Given the description of an element on the screen output the (x, y) to click on. 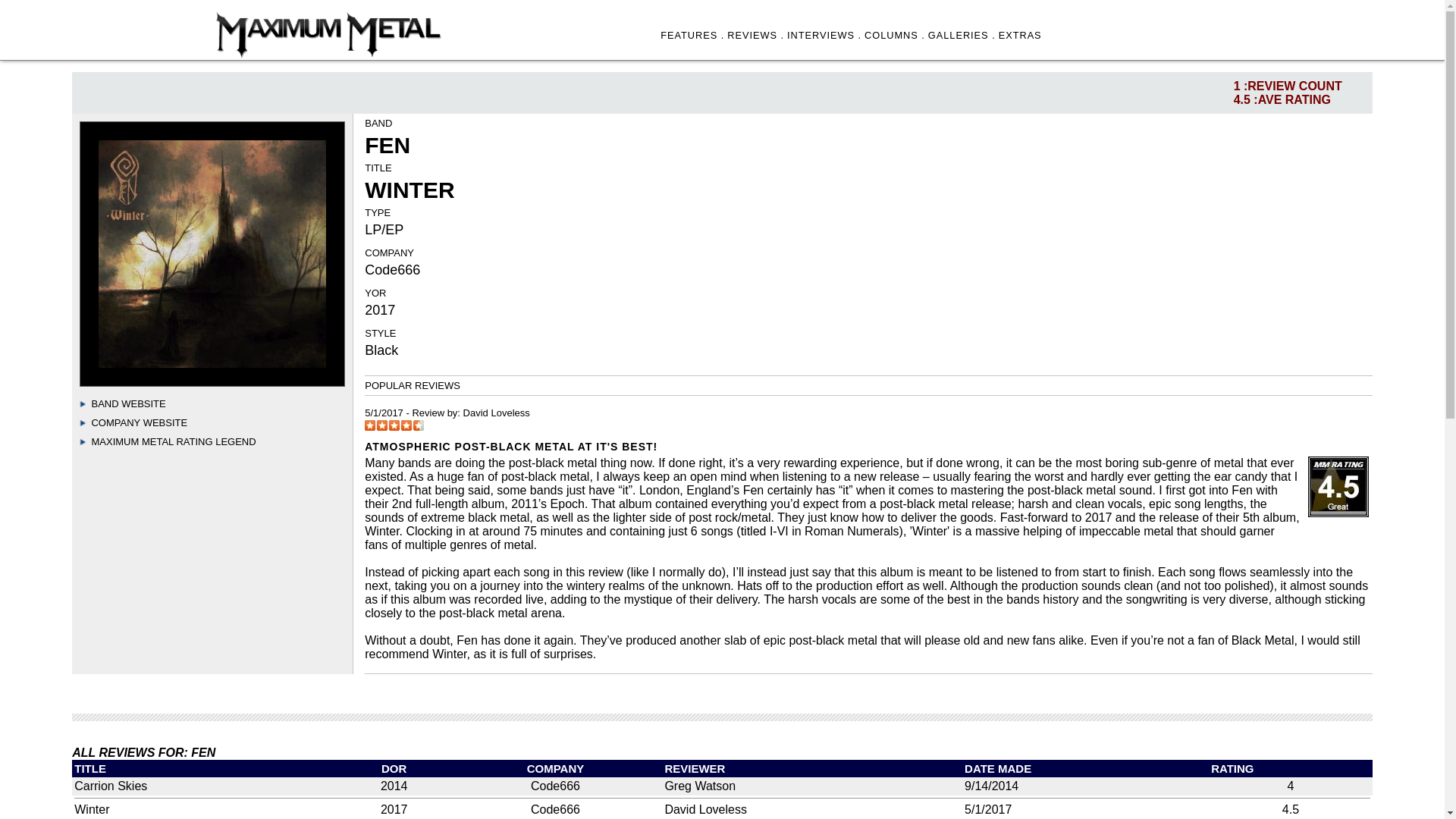
Winter (91, 809)
COMPANY WEBSITE (138, 422)
EXTRAS (1020, 34)
GALLERIES . (961, 34)
BAND WEBSITE (127, 403)
David Loveless (496, 412)
COLUMNS . (894, 34)
Carrion Skies (110, 785)
FEATURES . (692, 34)
REVIEWS . (755, 34)
INTERVIEWS . (824, 34)
